Given the description of an element on the screen output the (x, y) to click on. 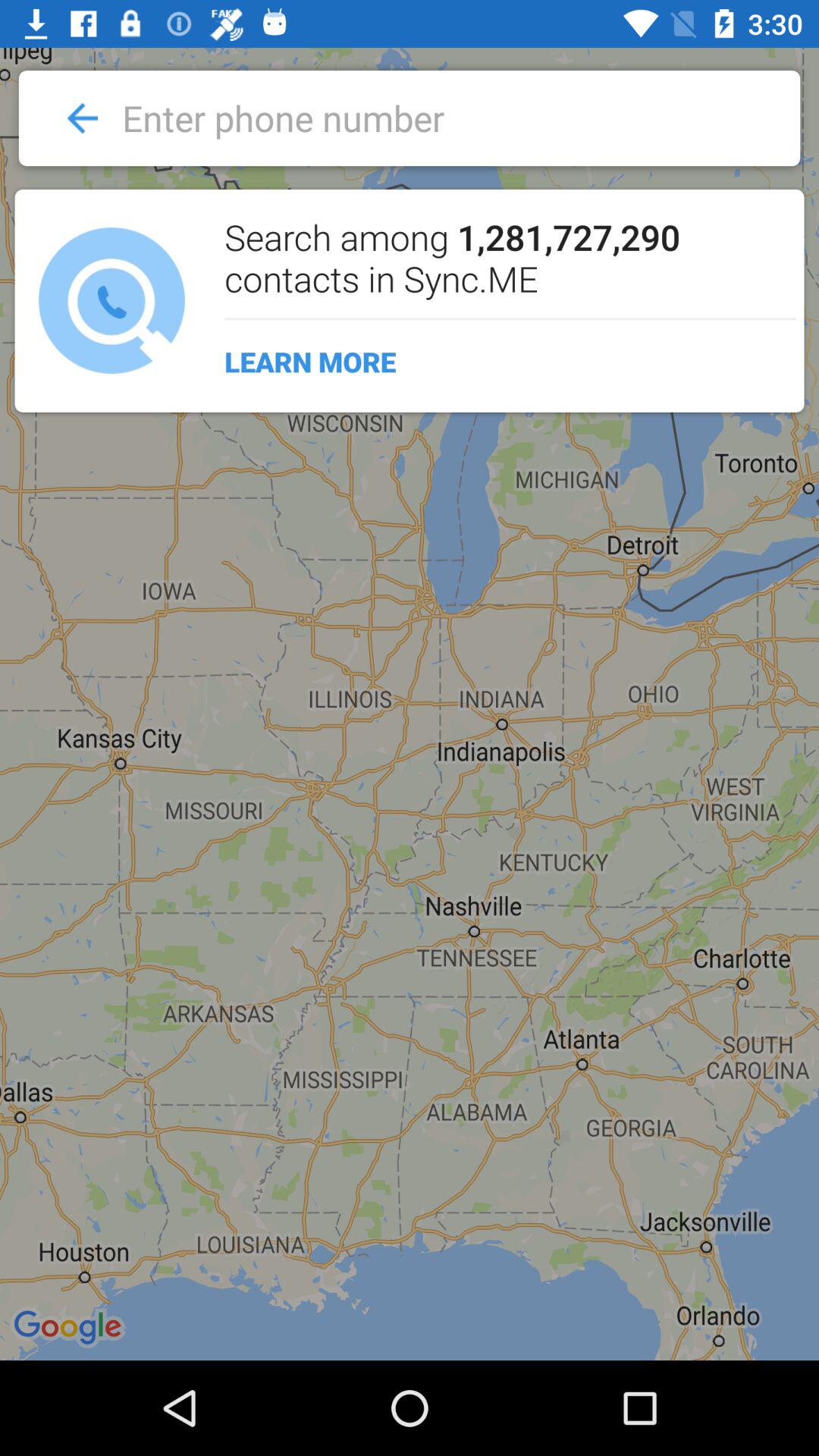
launch the icon above search among 1 icon (417, 118)
